Given the description of an element on the screen output the (x, y) to click on. 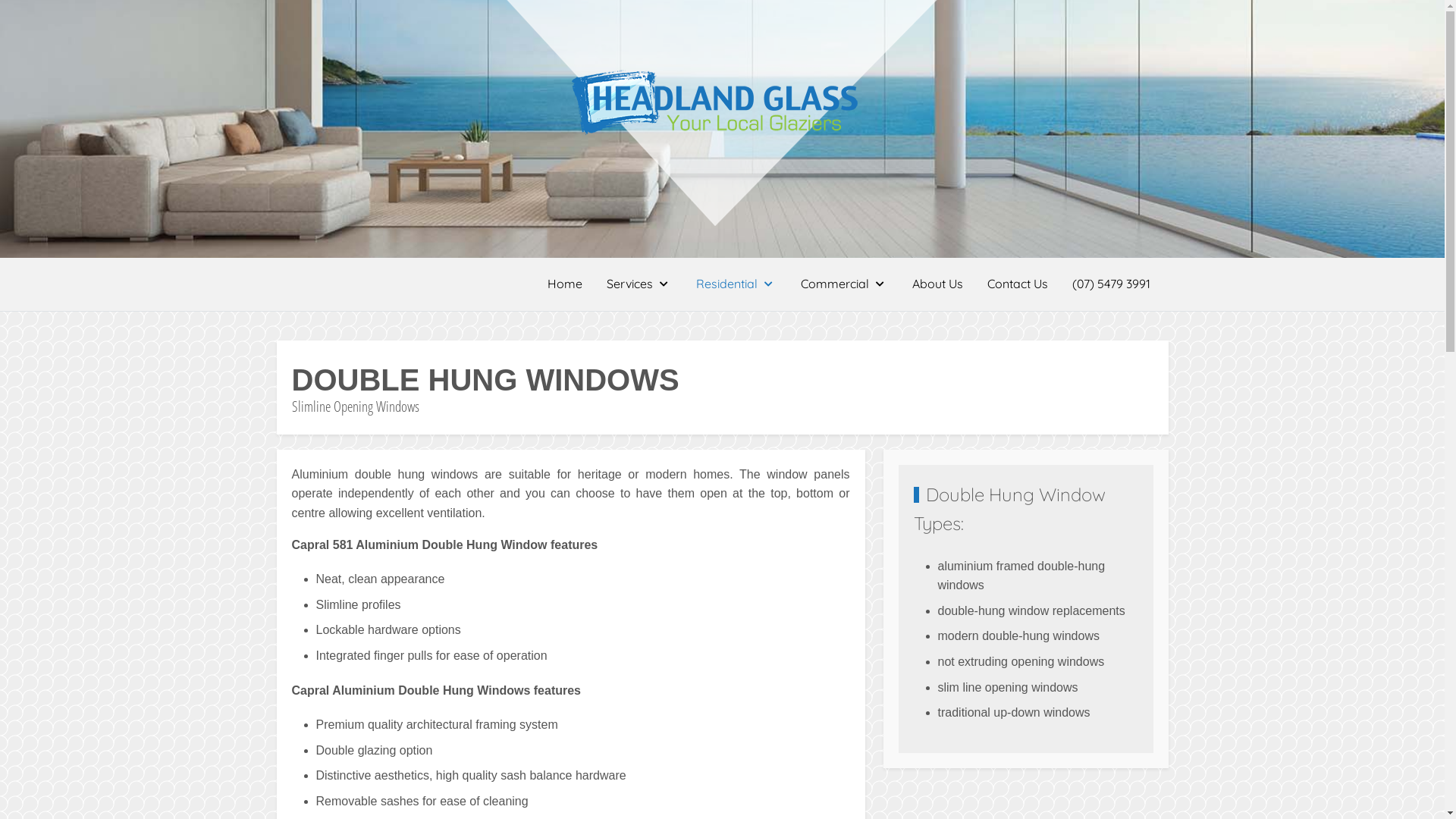
Home Element type: text (564, 284)
About Us Element type: text (936, 284)
Residential Element type: text (736, 284)
Contact Us Element type: text (1017, 284)
Services Element type: text (639, 284)
Commercial Element type: text (844, 284)
(07) 5479 3991 Element type: text (1111, 284)
